Given the description of an element on the screen output the (x, y) to click on. 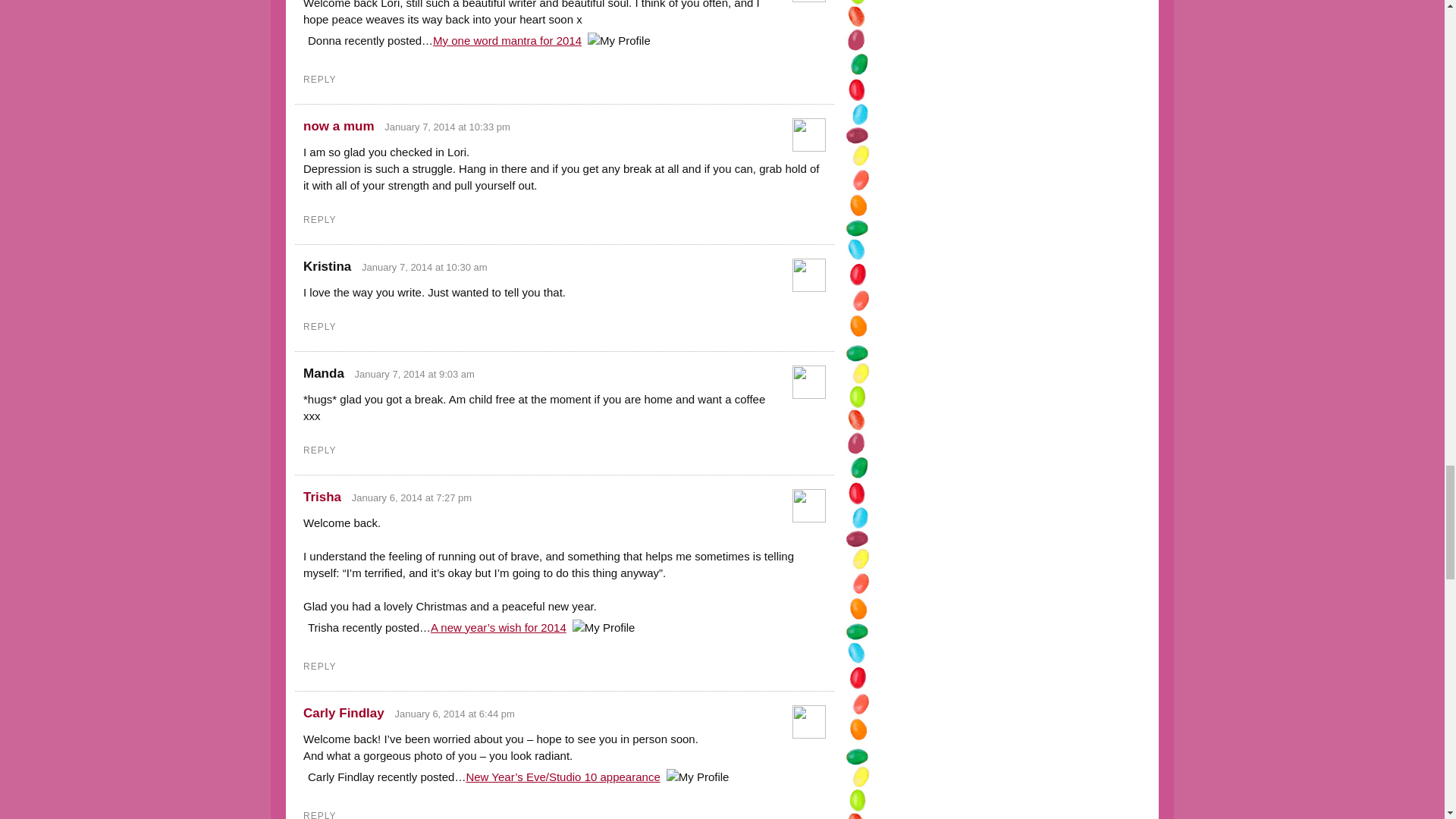
Permalink to this comment (411, 497)
Permalink to this comment (454, 713)
Permalink to this comment (424, 266)
Permalink to this comment (414, 374)
Permalink to this comment (447, 126)
